Given the description of an element on the screen output the (x, y) to click on. 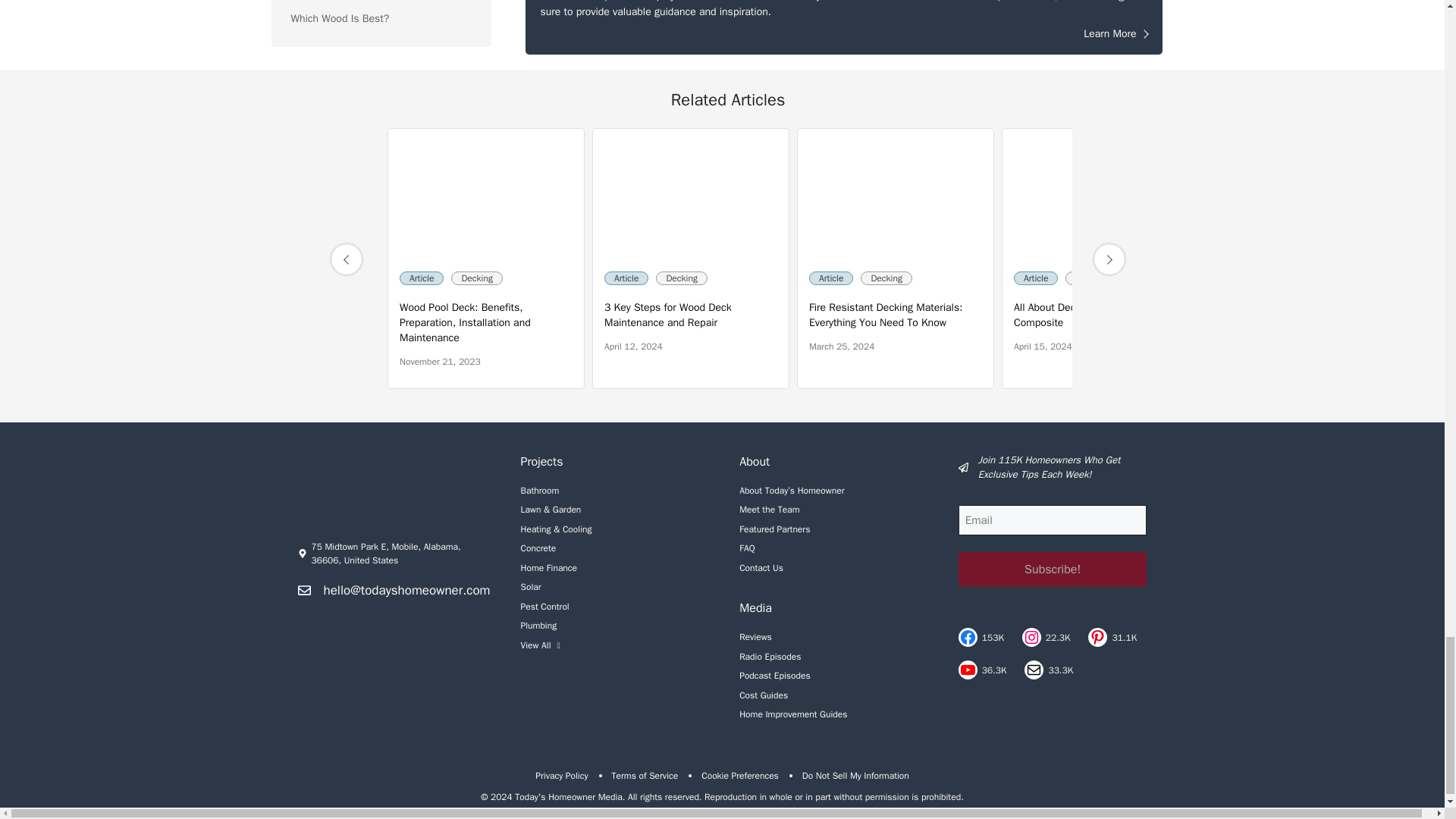
Subscribe! (1052, 569)
